Given the description of an element on the screen output the (x, y) to click on. 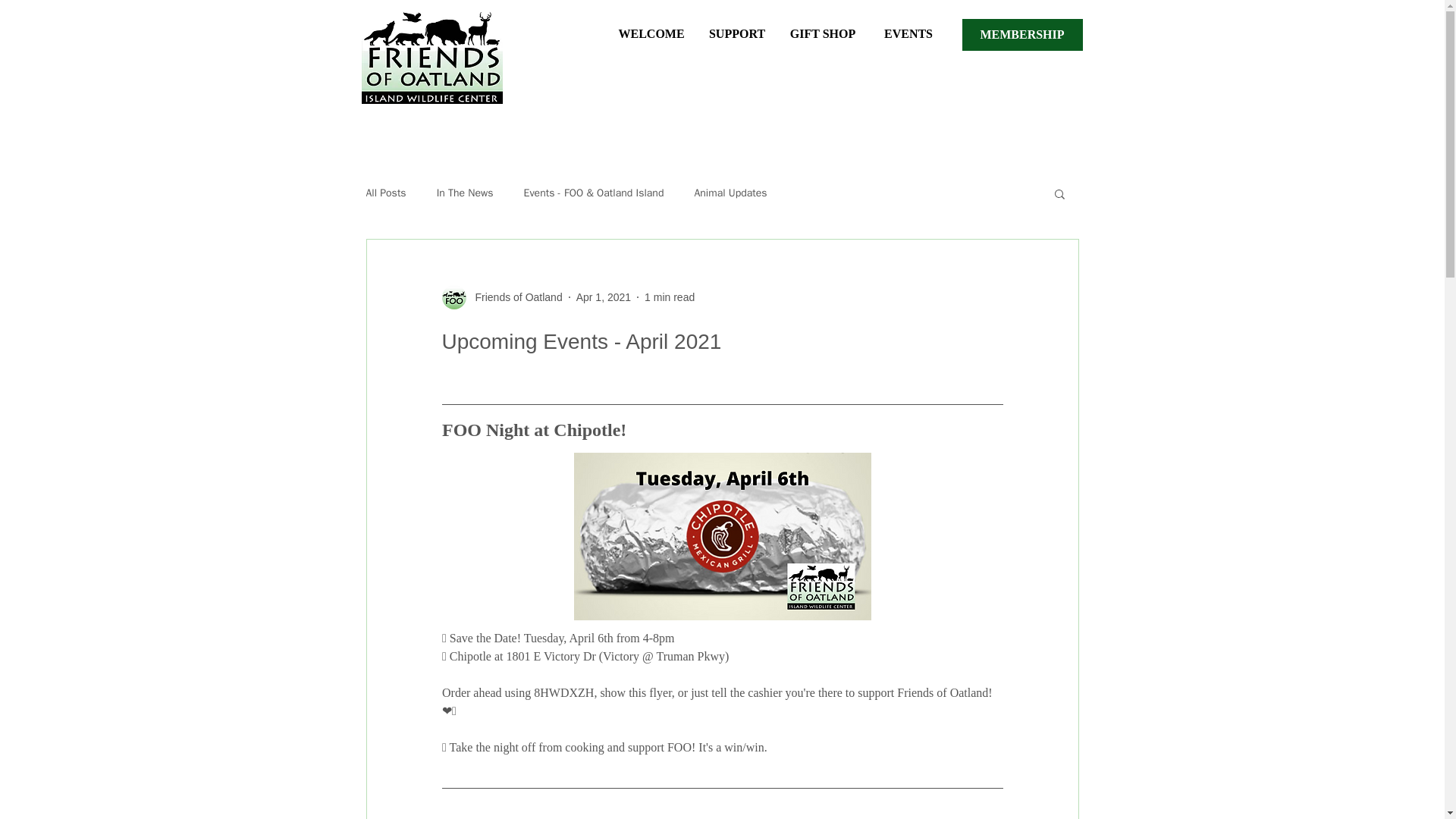
Apr 1, 2021 (603, 297)
SUPPORT (737, 26)
GIFT SHOP (821, 26)
Friends of Oatland (513, 297)
In The News (464, 192)
All Posts (385, 192)
WELCOME (651, 26)
Friends of Oatland (501, 297)
EVENTS (909, 26)
Animal Updates (730, 192)
